Given the description of an element on the screen output the (x, y) to click on. 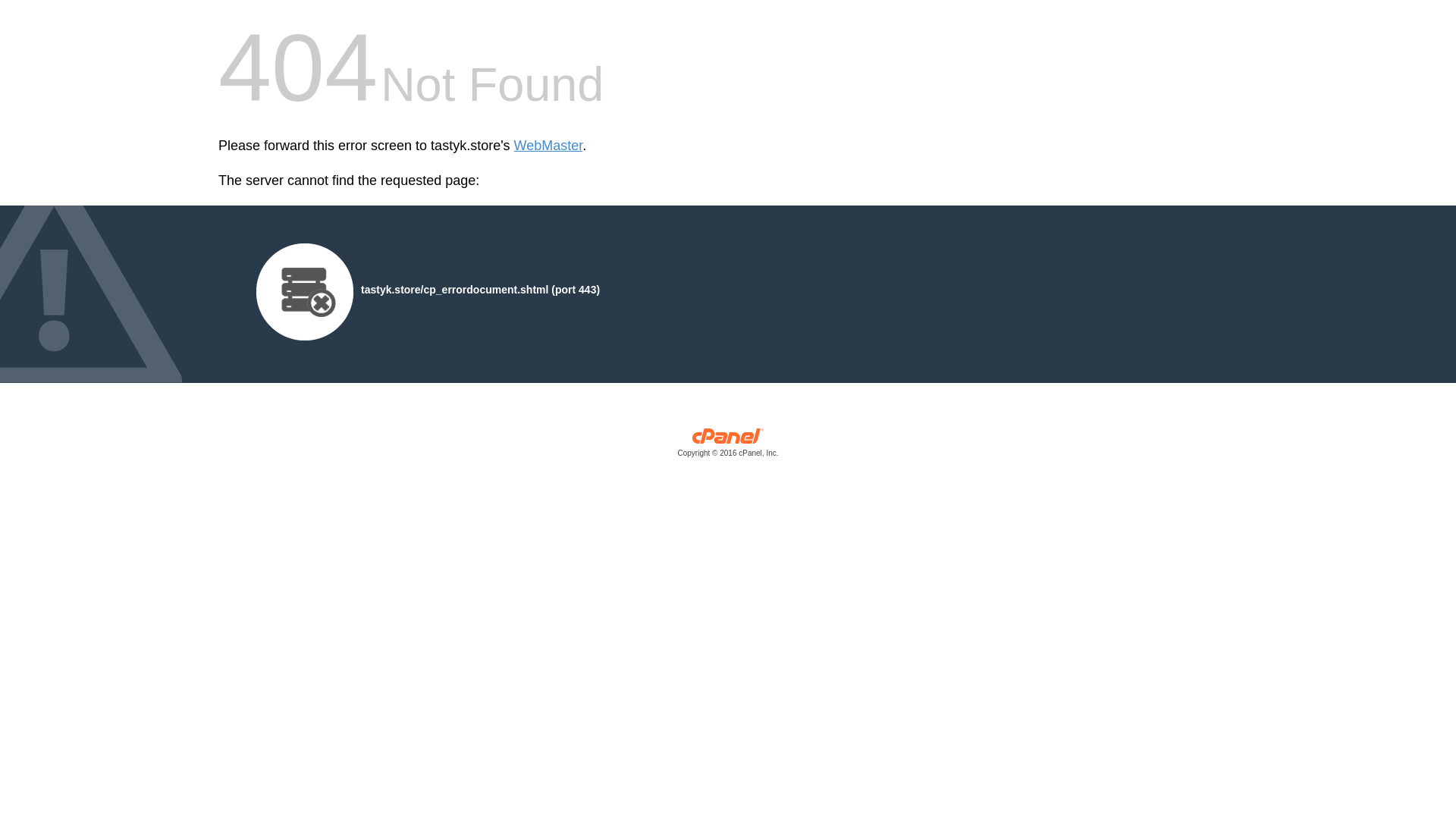
cPanel, Inc. (727, 446)
WebMaster (548, 145)
